Given the description of an element on the screen output the (x, y) to click on. 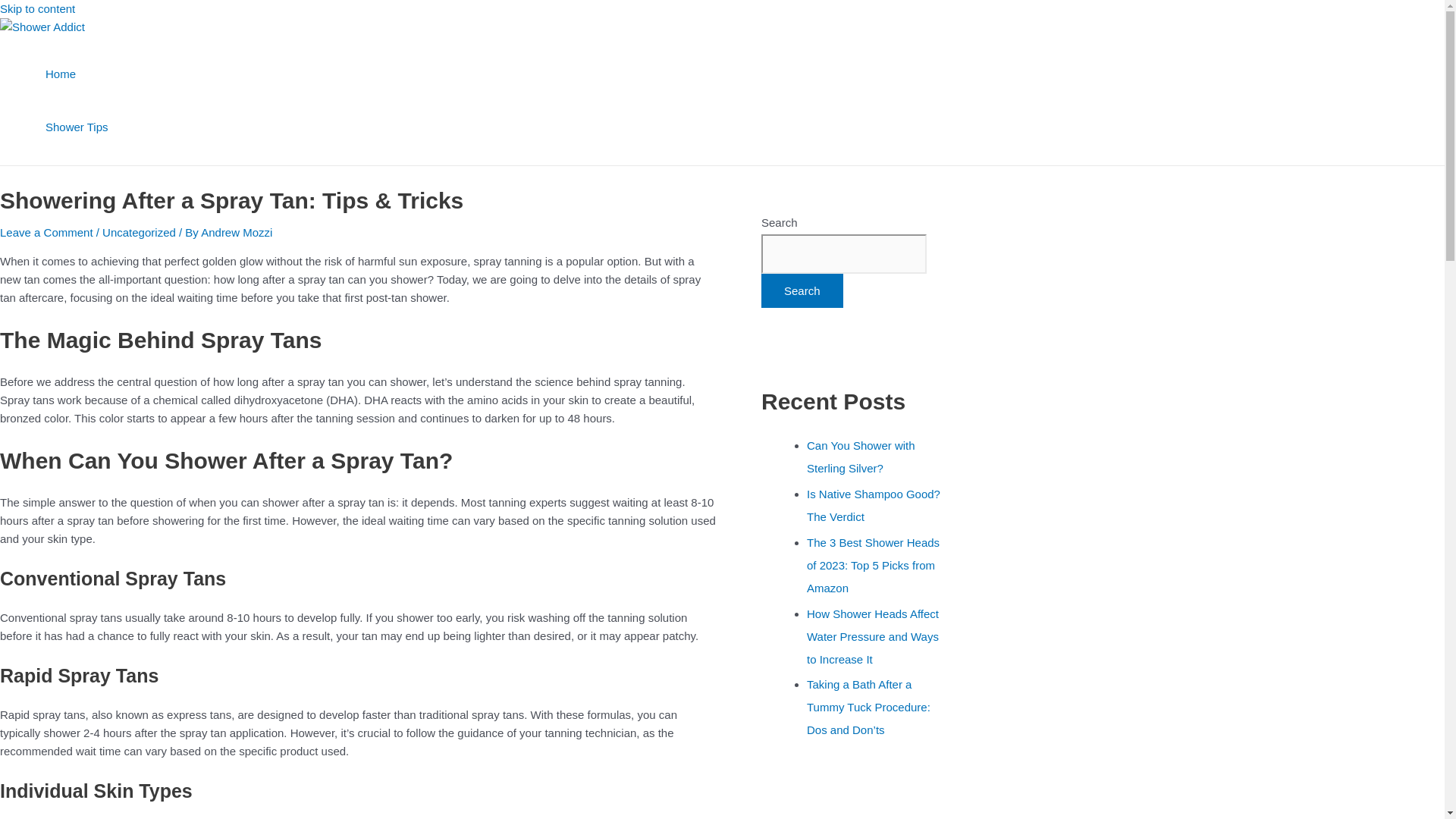
Uncategorized (138, 232)
Can You Shower with Sterling Silver? (860, 456)
Shower Tips (76, 126)
Home (76, 73)
View all posts by Andrew Mozzi (236, 232)
Skip to content (37, 8)
Andrew Mozzi (236, 232)
Leave a Comment (46, 232)
Is Native Shampoo Good? The Verdict (873, 505)
Search (802, 290)
The 3 Best Shower Heads of 2023: Top 5 Picks from Amazon (872, 565)
Skip to content (37, 8)
